Given the description of an element on the screen output the (x, y) to click on. 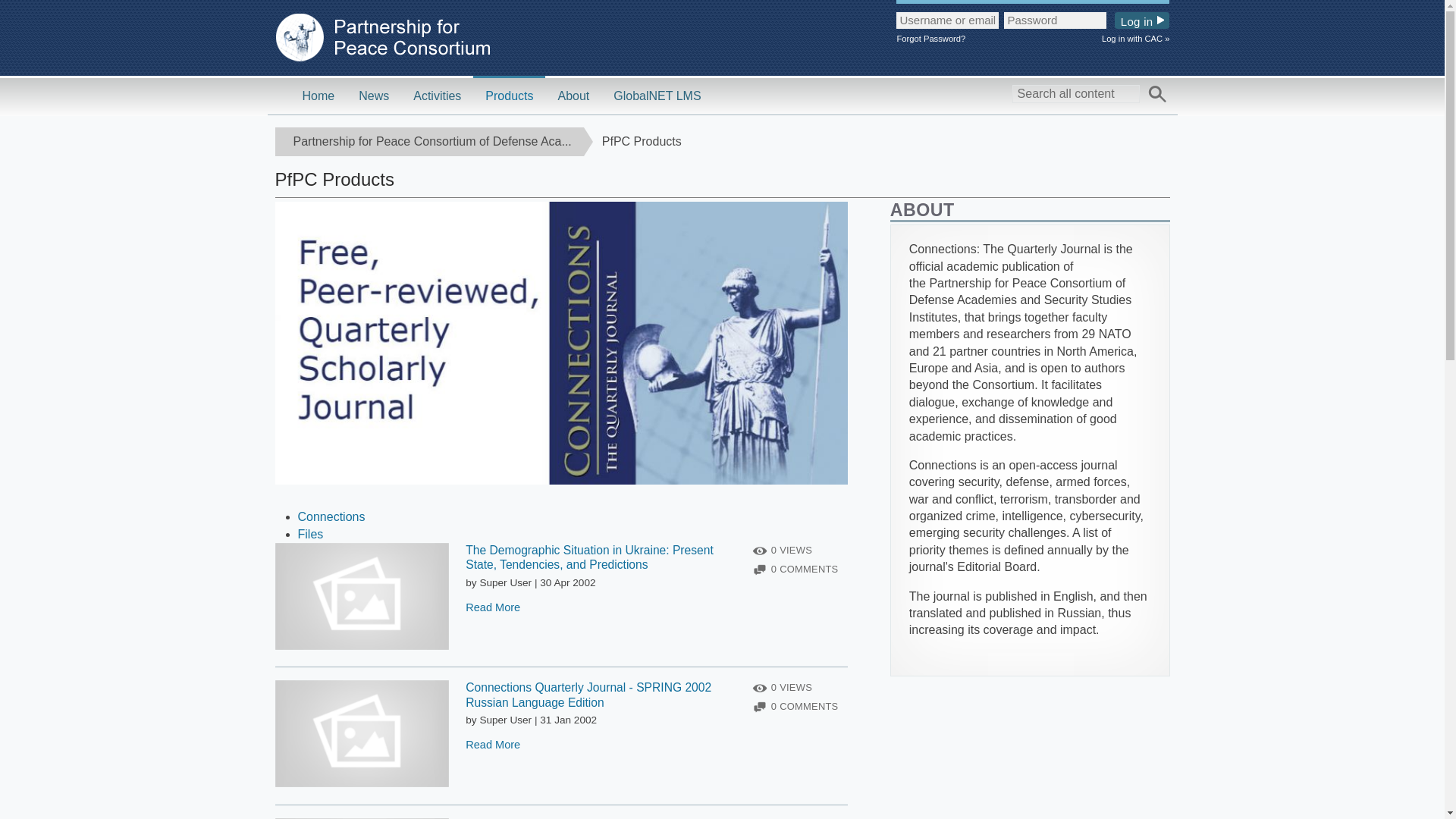
Log in (1142, 20)
Search (1157, 94)
Forgot Password? (1032, 39)
Log in (1142, 20)
Home (317, 95)
Read More (492, 607)
Read More (492, 744)
